Given the description of an element on the screen output the (x, y) to click on. 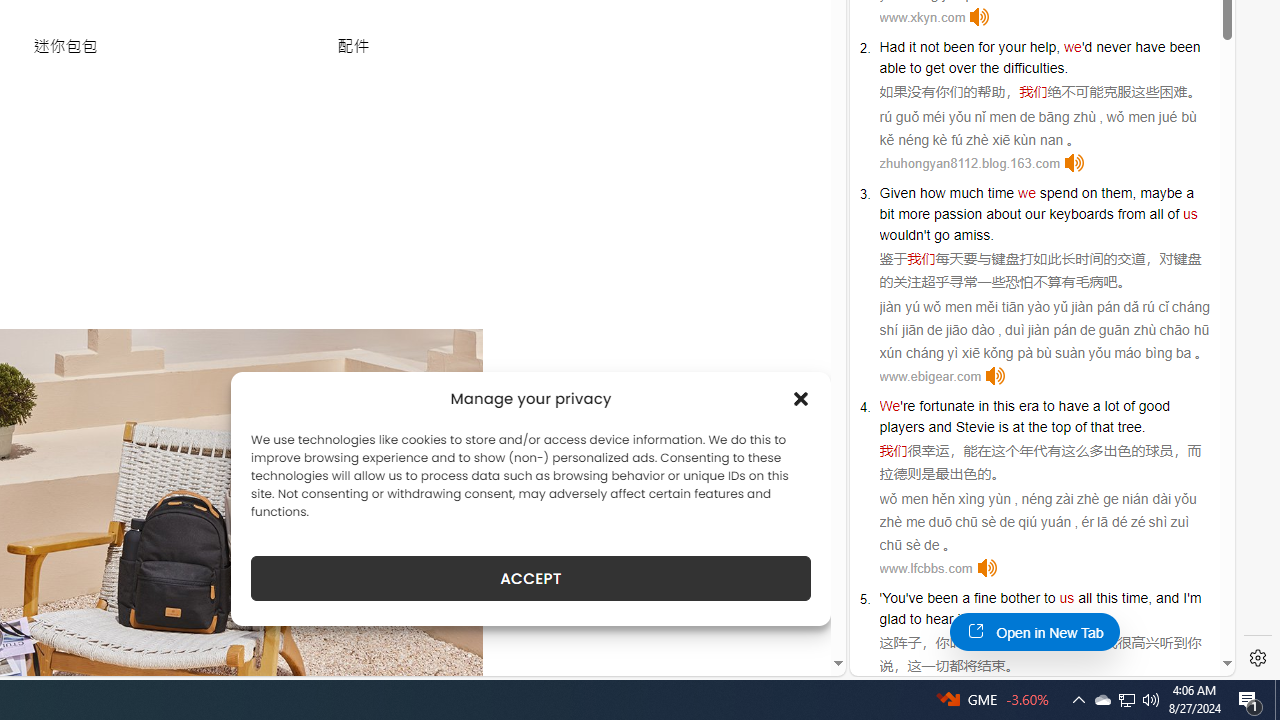
all (1085, 597)
we (1026, 192)
fortunate (947, 405)
zhuhongyan8112.blog.163.com (969, 163)
difficulties (1033, 67)
www.xkyn.com (922, 17)
stop (1044, 619)
going (994, 619)
